Given the description of an element on the screen output the (x, y) to click on. 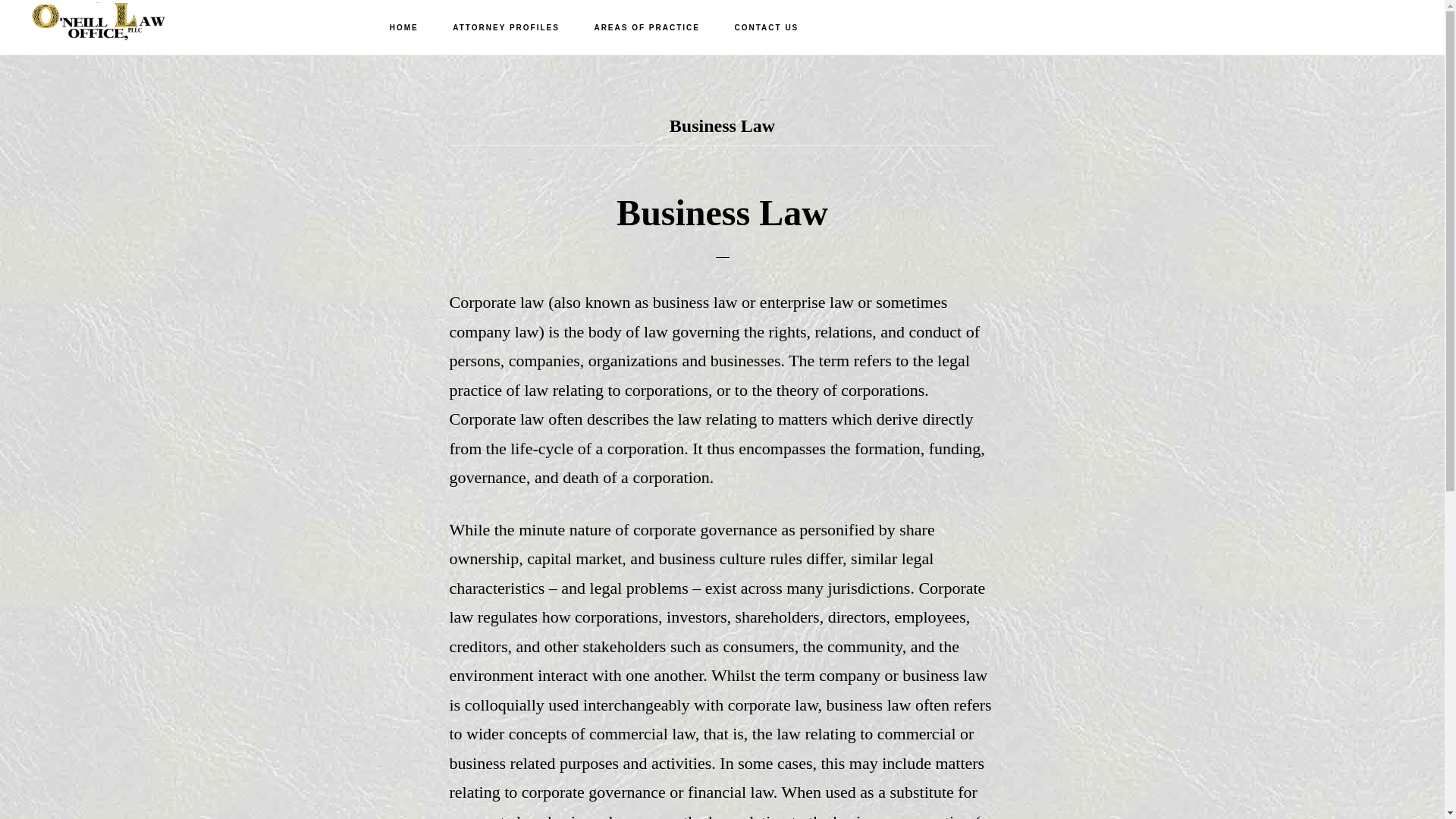
AREAS OF PRACTICE (646, 27)
POLSON LAW OFFICE (98, 26)
HOME (403, 27)
CONTACT US (766, 27)
Business Law (721, 212)
ATTORNEY PROFILES (506, 27)
